Given the description of an element on the screen output the (x, y) to click on. 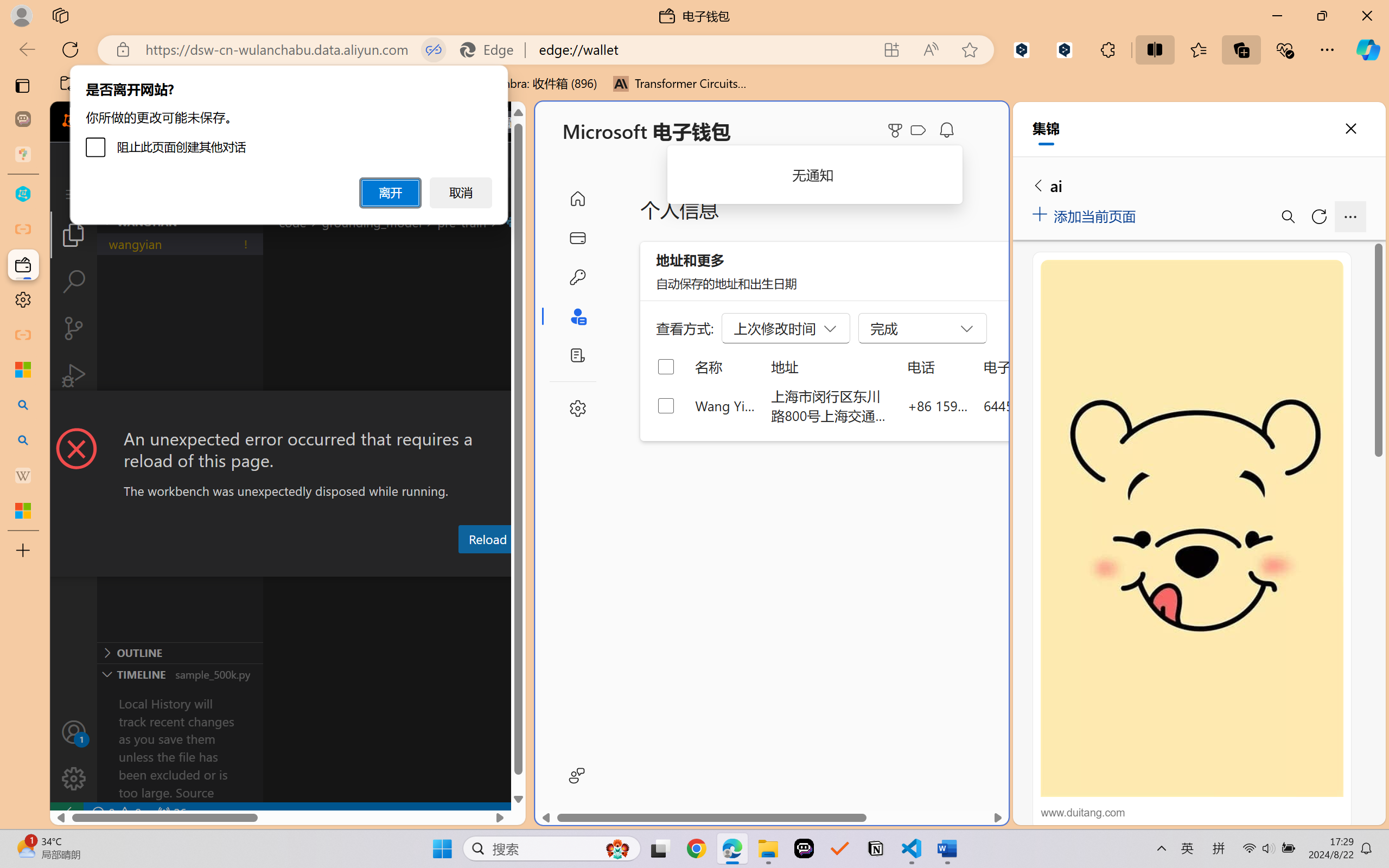
Microsoft security help and learning (22, 369)
Problems (Ctrl+Shift+M) (308, 565)
644553698@qq.com (1043, 405)
Wang Yian (725, 405)
Timeline Section (179, 673)
Terminal (Ctrl+`) (553, 565)
